Given the description of an element on the screen output the (x, y) to click on. 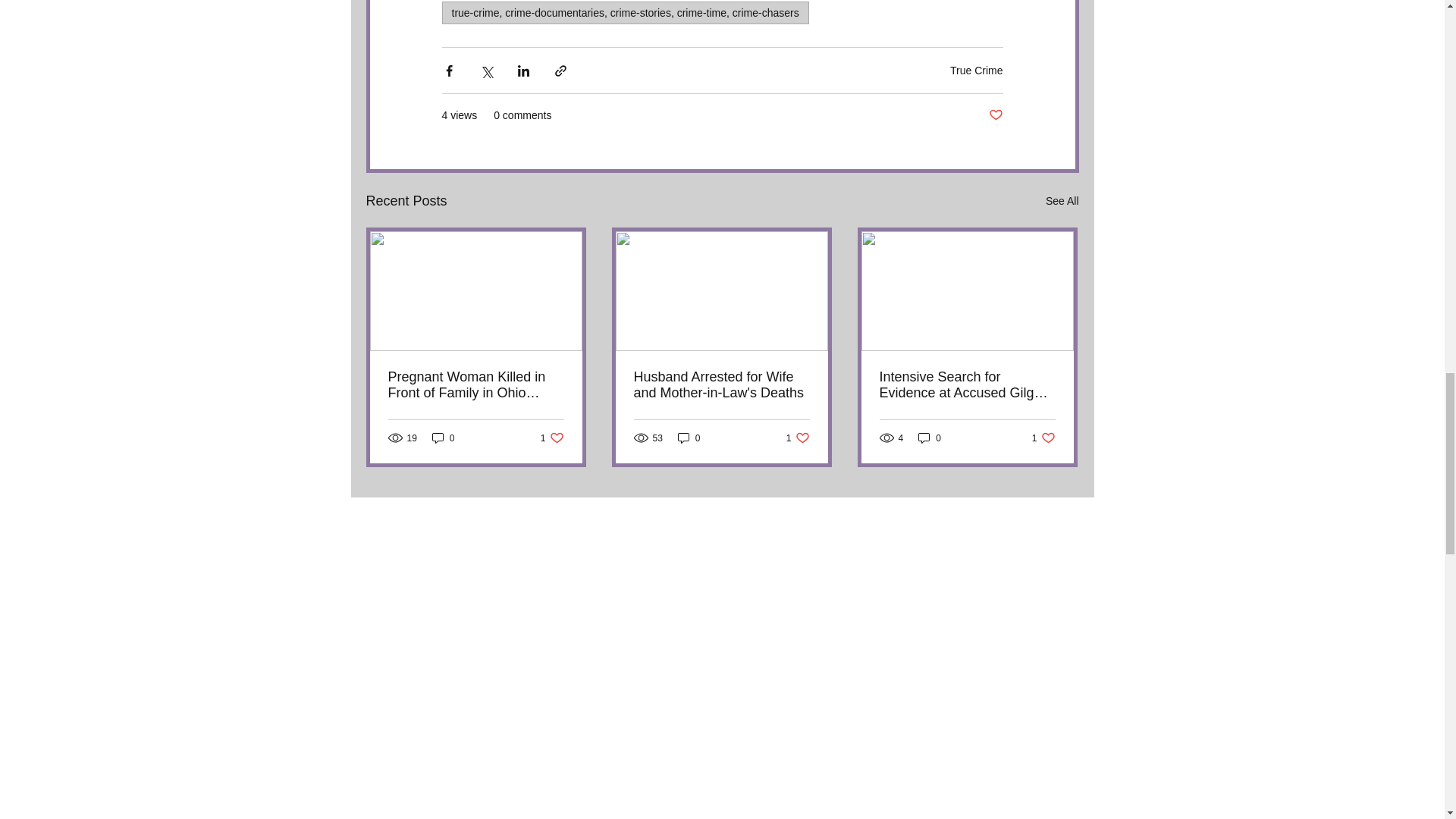
See All (1061, 201)
0 (443, 437)
Husband Arrested for Wife and Mother-in-Law's Deaths (721, 384)
True Crime (552, 437)
Post not marked as liked (976, 69)
